Given the description of an element on the screen output the (x, y) to click on. 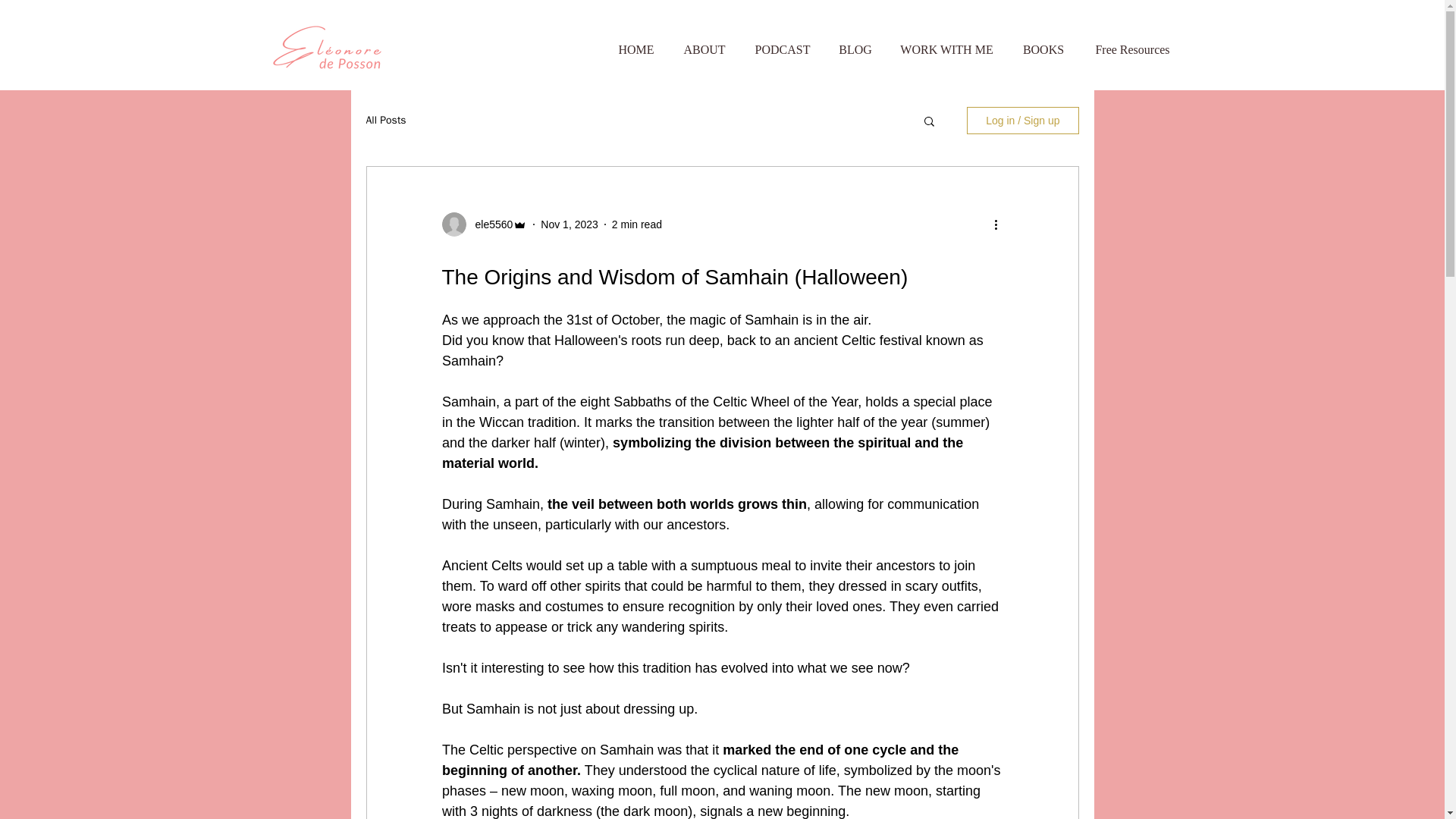
ele5560 (488, 224)
BRANDING Name Logo.png (332, 49)
BOOKS (1043, 49)
Nov 1, 2023 (569, 224)
WORK WITH ME (947, 49)
ABOUT (703, 49)
HOME (636, 49)
All Posts (385, 120)
BLOG (855, 49)
PODCAST (782, 49)
2 min read (636, 224)
